Given the description of an element on the screen output the (x, y) to click on. 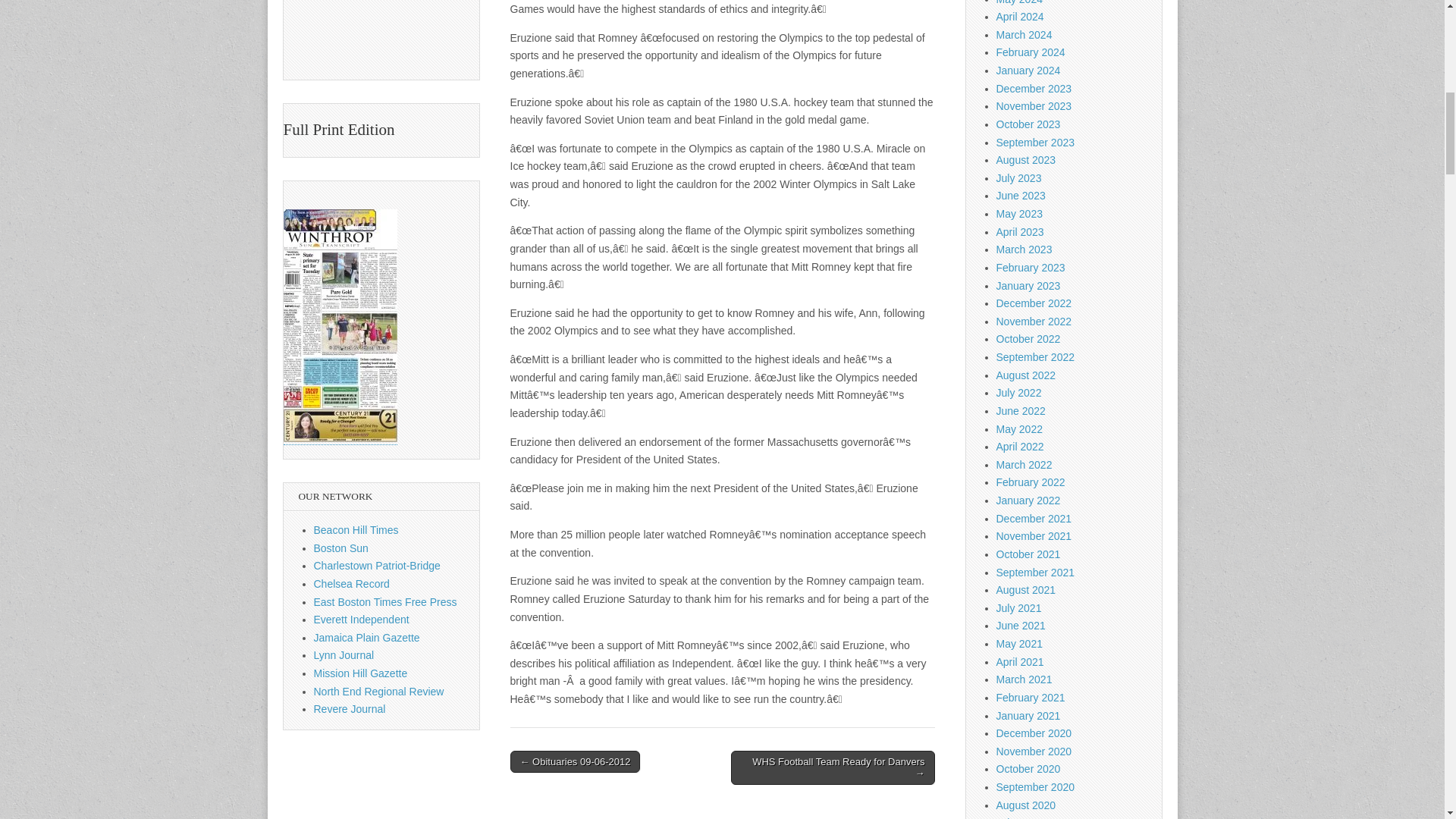
East Boston Times Free Press (385, 602)
Jamaica Plain Gazette (367, 637)
Beacon Hill Times (356, 530)
Mission Hill Gazette (360, 673)
Charlestown Patriot-Bridge (377, 565)
Chelsea Record (352, 583)
Boston Sun (341, 548)
Lynn Journal (344, 654)
North End Regional Review (379, 691)
Revere Journal (349, 708)
